Given the description of an element on the screen output the (x, y) to click on. 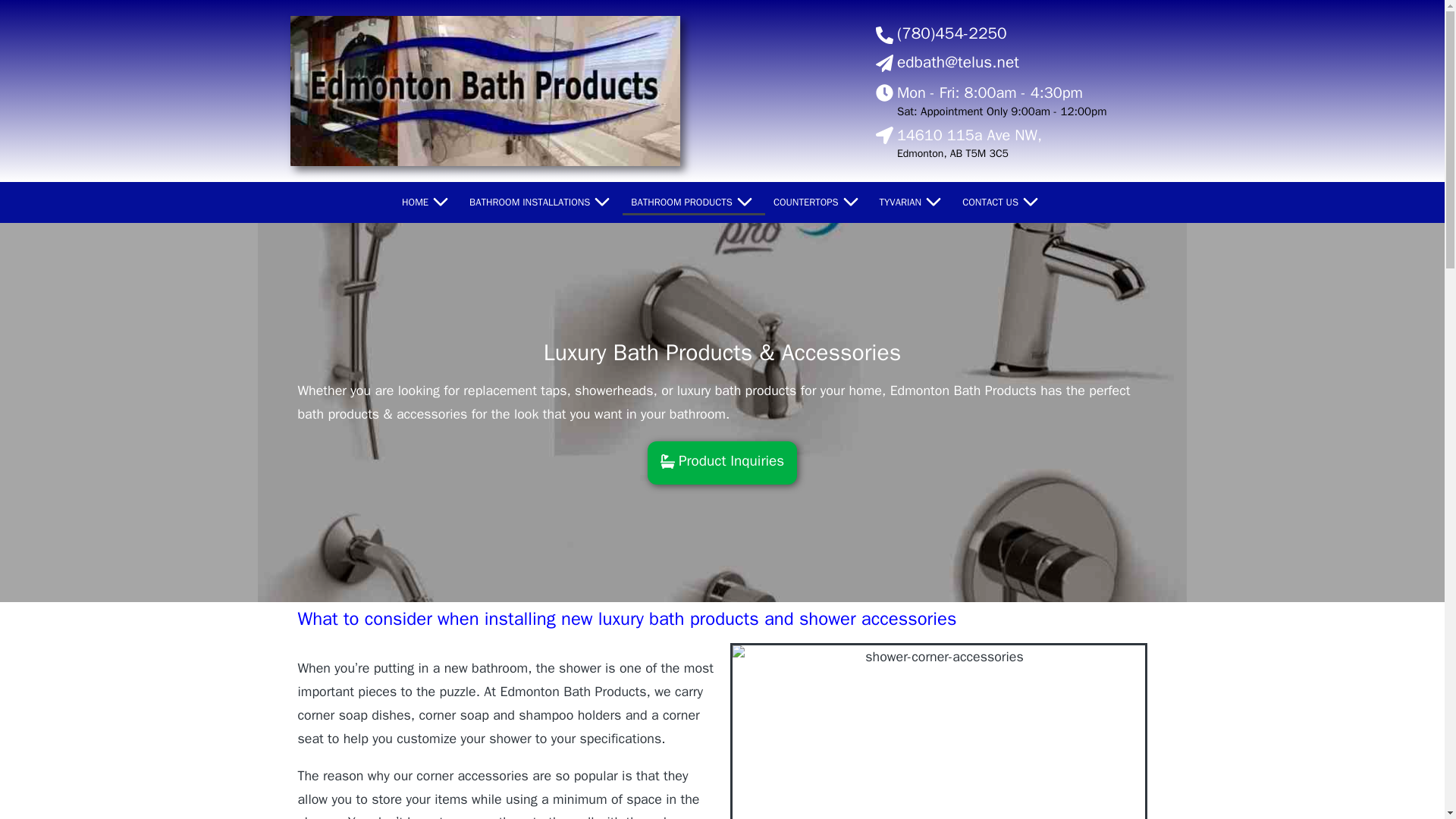
14610 115a Ave NW, (969, 135)
CONTACT US (1002, 202)
BATHROOM PRODUCTS (694, 202)
TYVARIAN (912, 202)
HOME (427, 202)
Contact Edmonton Bath Products (1002, 202)
Cultured Marble Countertops (817, 202)
COUNTERTOPS (817, 202)
BATHROOM INSTALLATIONS (542, 202)
